Given the description of an element on the screen output the (x, y) to click on. 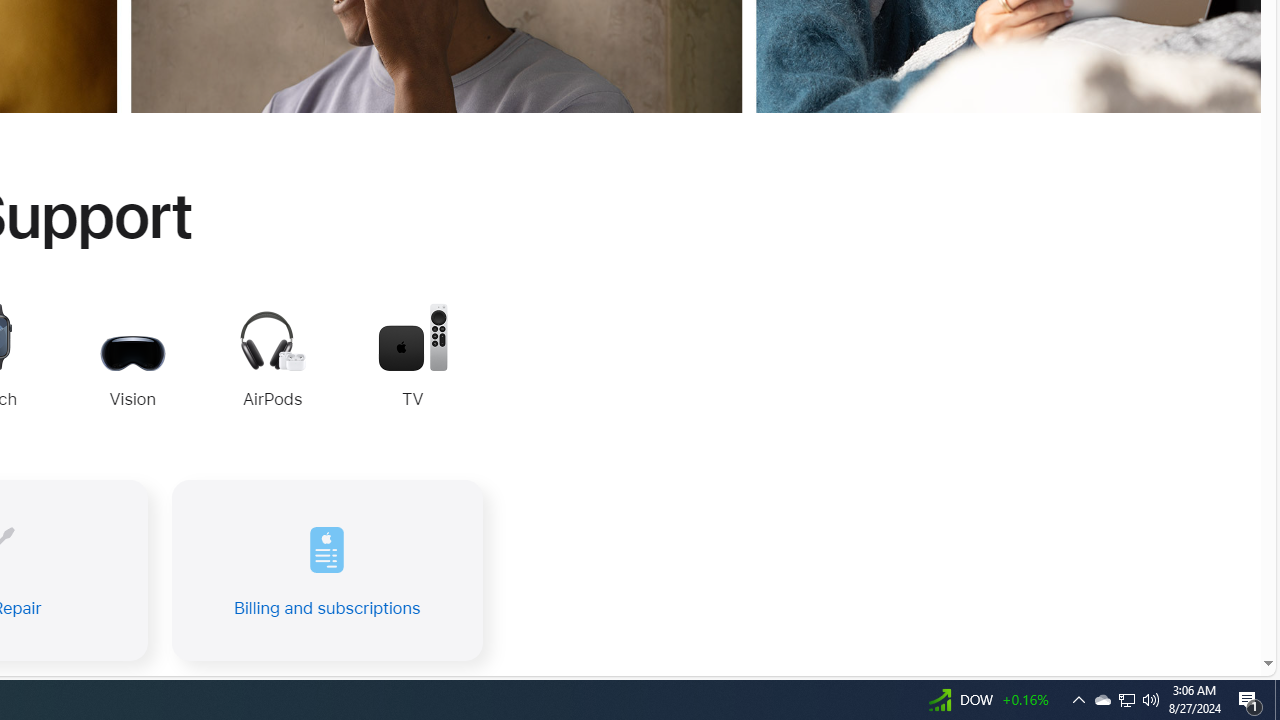
TV Support (412, 358)
Billing and subscriptions (326, 570)
AirPods Support (272, 362)
Apple Vision Pro Support (132, 358)
